Given the description of an element on the screen output the (x, y) to click on. 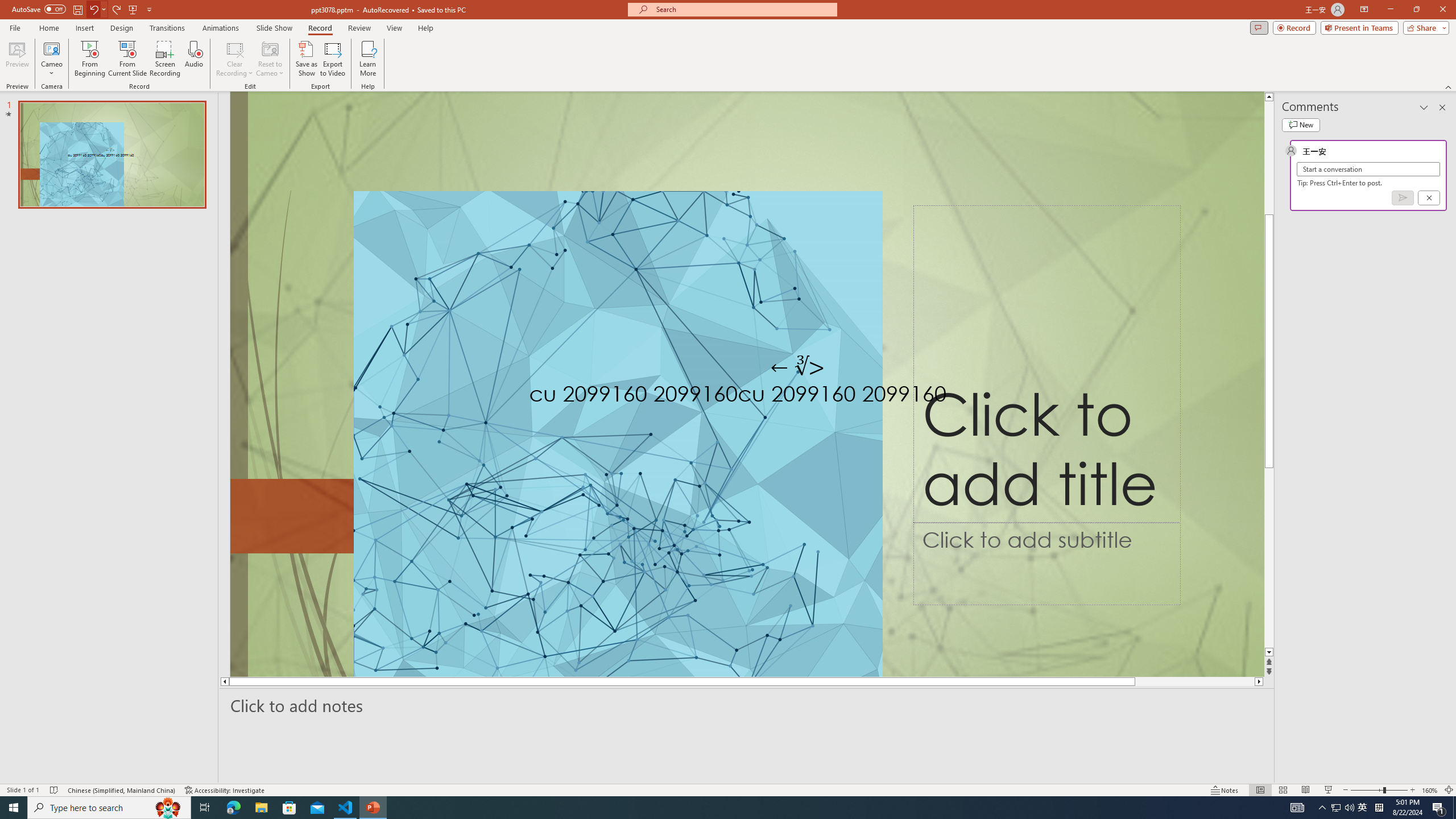
Cancel (1428, 197)
Clear Recording (234, 58)
New comment (1300, 124)
Save as Show (306, 58)
Page up (1268, 135)
Post comment (Ctrl + Enter) (1402, 197)
